Given the description of an element on the screen output the (x, y) to click on. 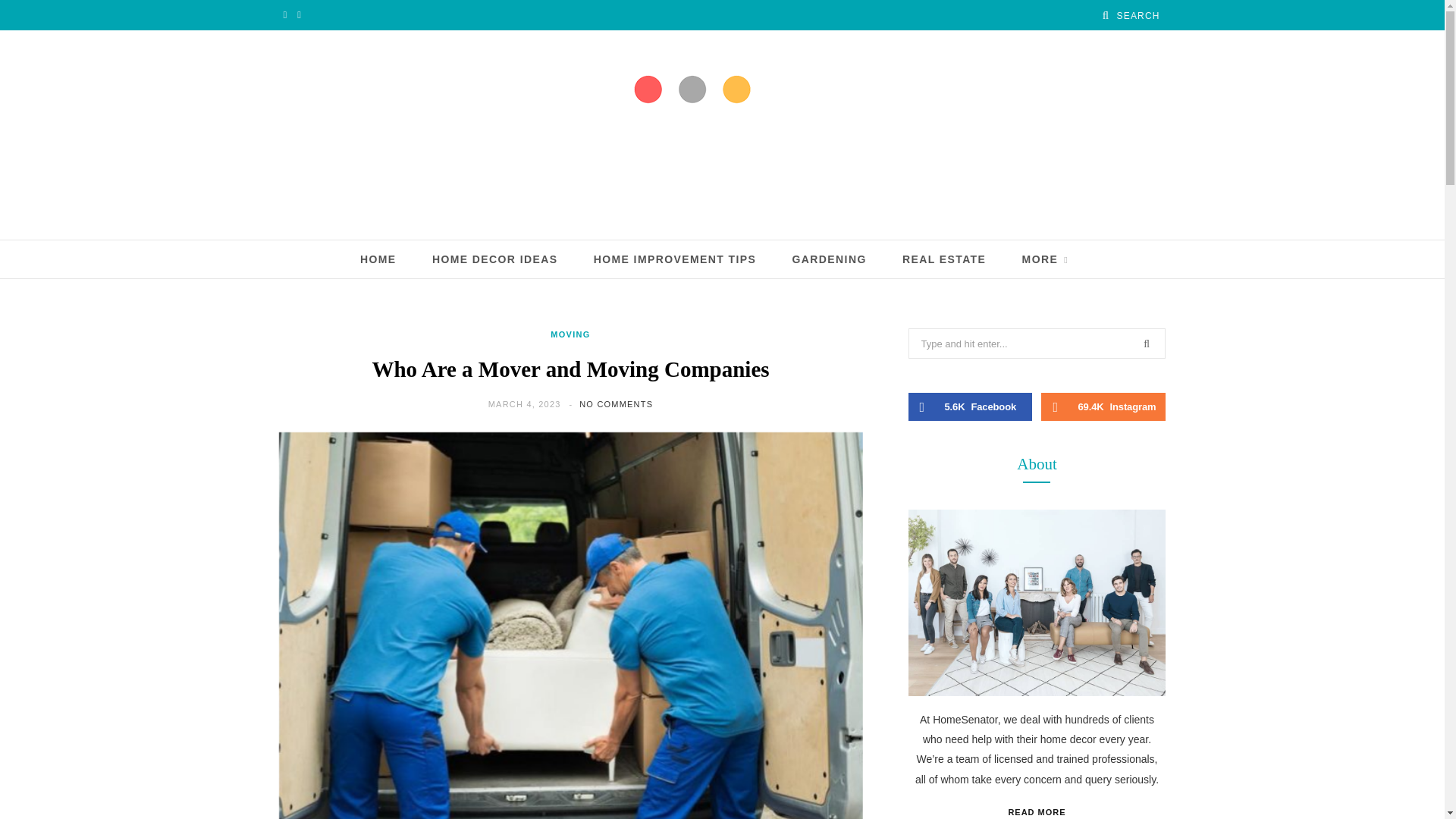
NO COMMENTS (615, 403)
GARDENING (829, 259)
MARCH 4, 2023 (525, 403)
Search for: (1037, 343)
HOME (377, 259)
HOME IMPROVEMENT TIPS (675, 259)
HOME DECOR IDEAS (494, 259)
MOVING (570, 334)
Home Senator (720, 135)
